Given the description of an element on the screen output the (x, y) to click on. 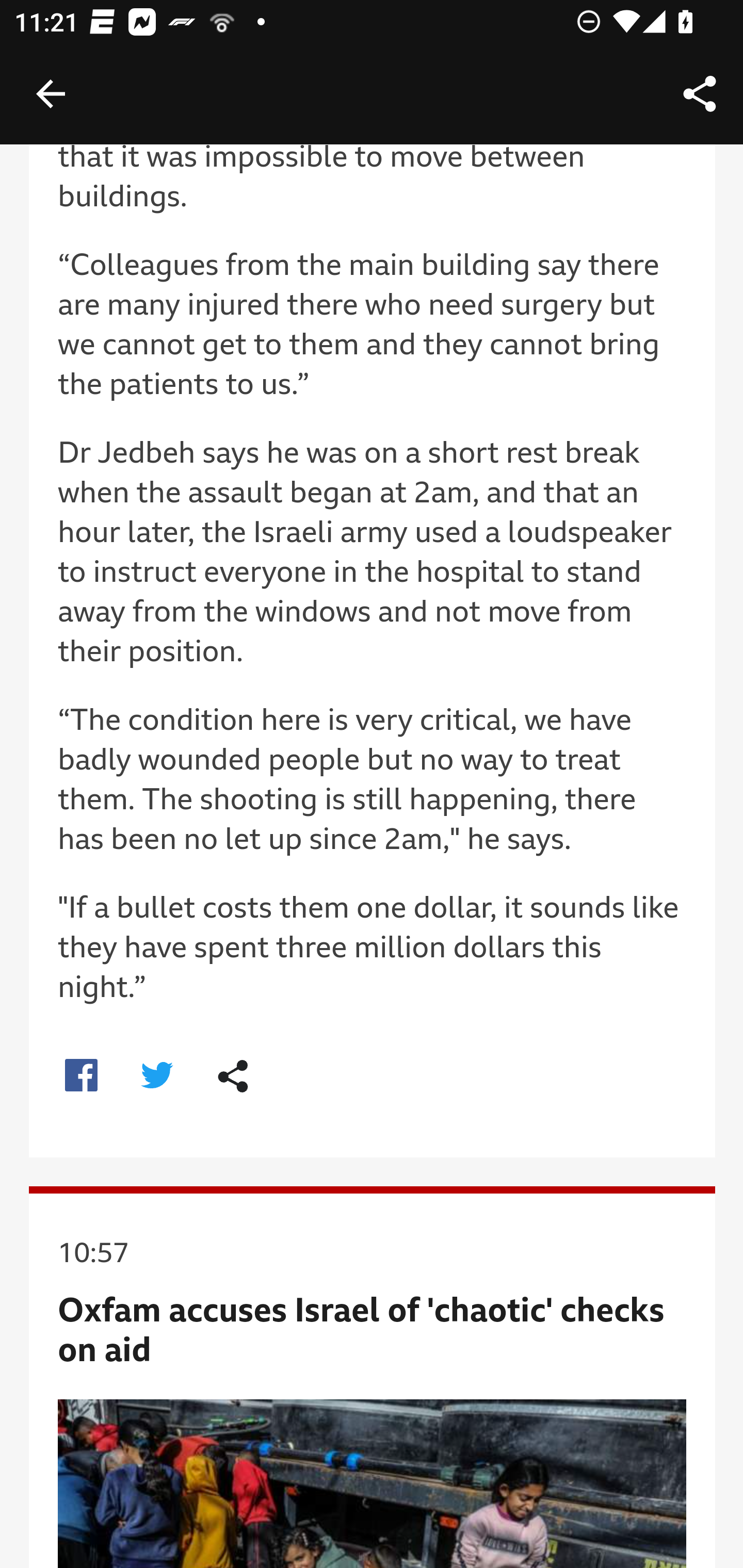
Back (50, 93)
Share (699, 93)
Share this post on Facebook (80, 1074)
Share this post on Twitter (157, 1074)
View more share options (232, 1076)
